Given the description of an element on the screen output the (x, y) to click on. 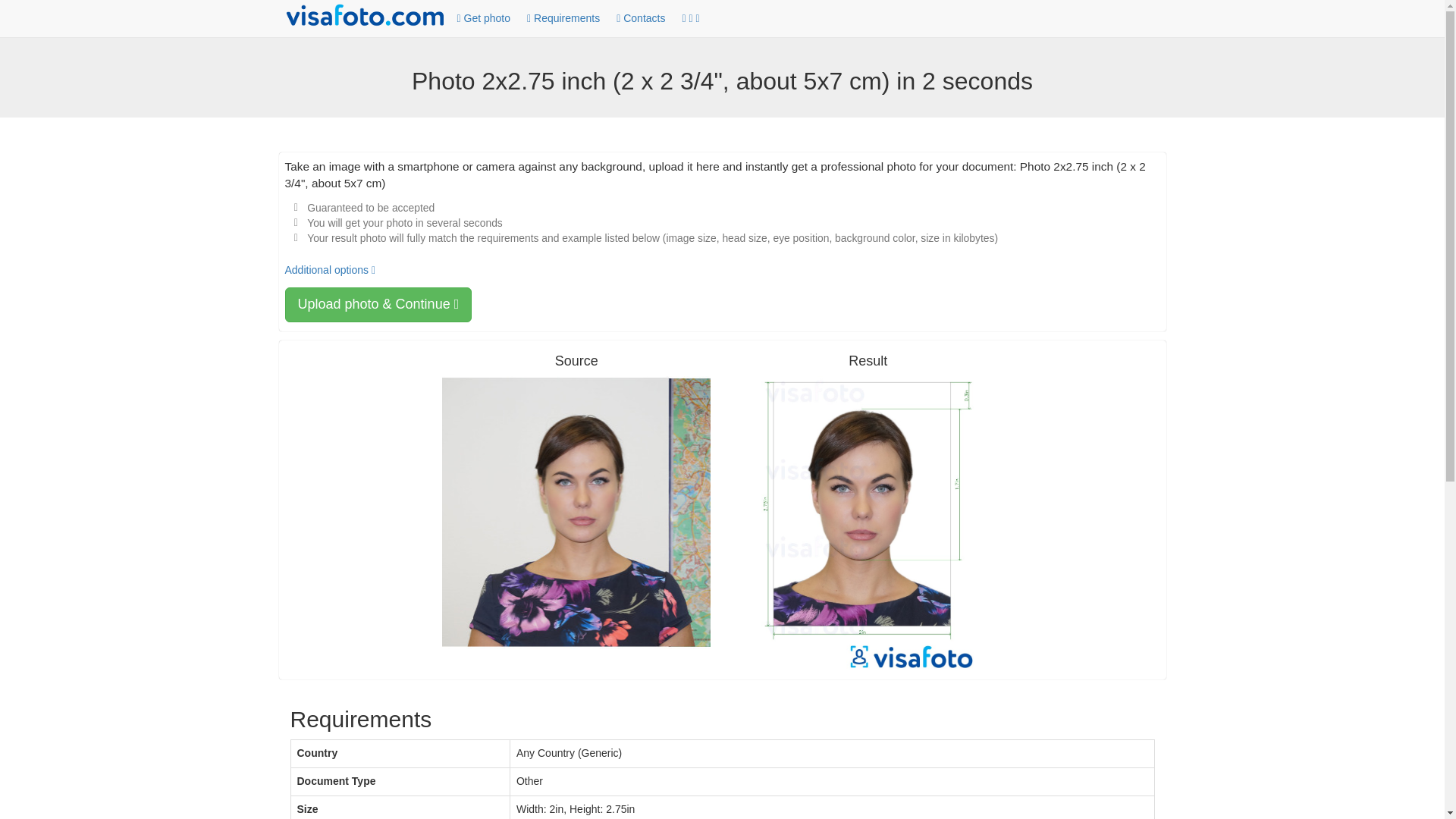
Additional options (330, 269)
Contacts (640, 19)
Requirements (563, 19)
Get photo (483, 19)
